Given the description of an element on the screen output the (x, y) to click on. 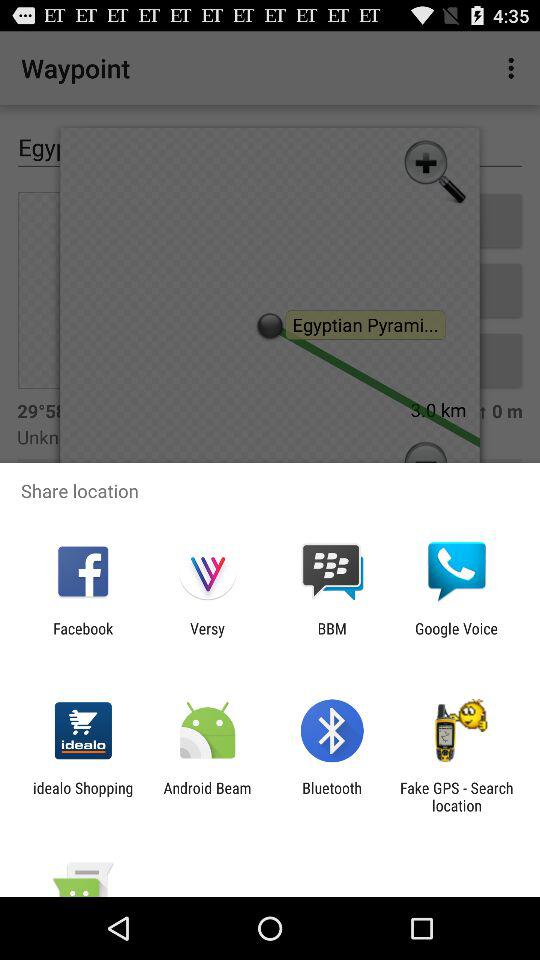
scroll until the versy item (207, 637)
